Given the description of an element on the screen output the (x, y) to click on. 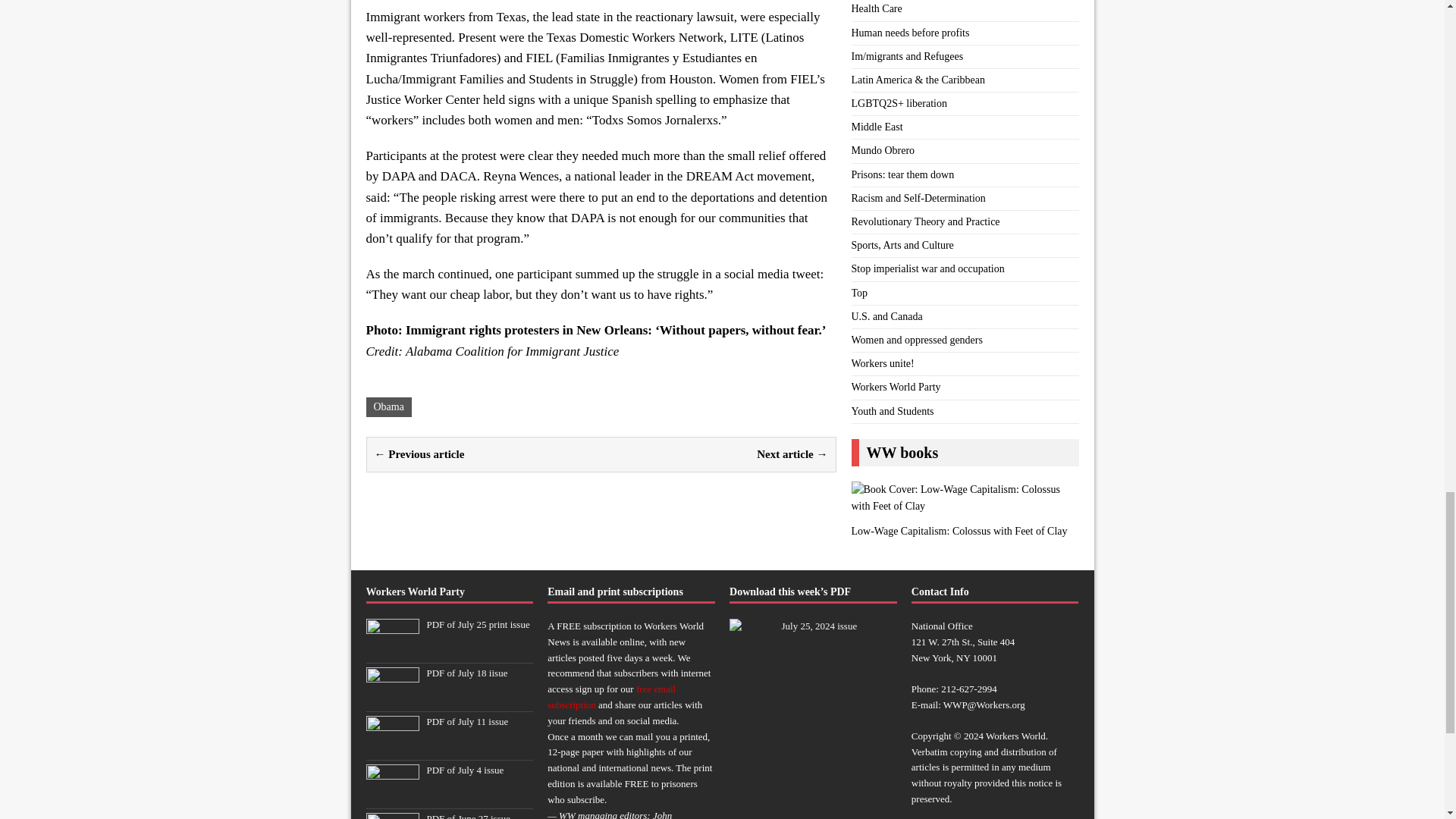
PDF of July 4 issue (464, 769)
PDF of July 18 iisue (466, 672)
PDF of July 4 issue (392, 795)
PDF of June 27 issue (468, 816)
PDF of July 25 print issue (392, 650)
PDF of July 11 issue (392, 747)
PDF of July 25 print issue (477, 624)
PDF of July 11 issue (467, 721)
PDF of July 18 iisue (392, 698)
